Given the description of an element on the screen output the (x, y) to click on. 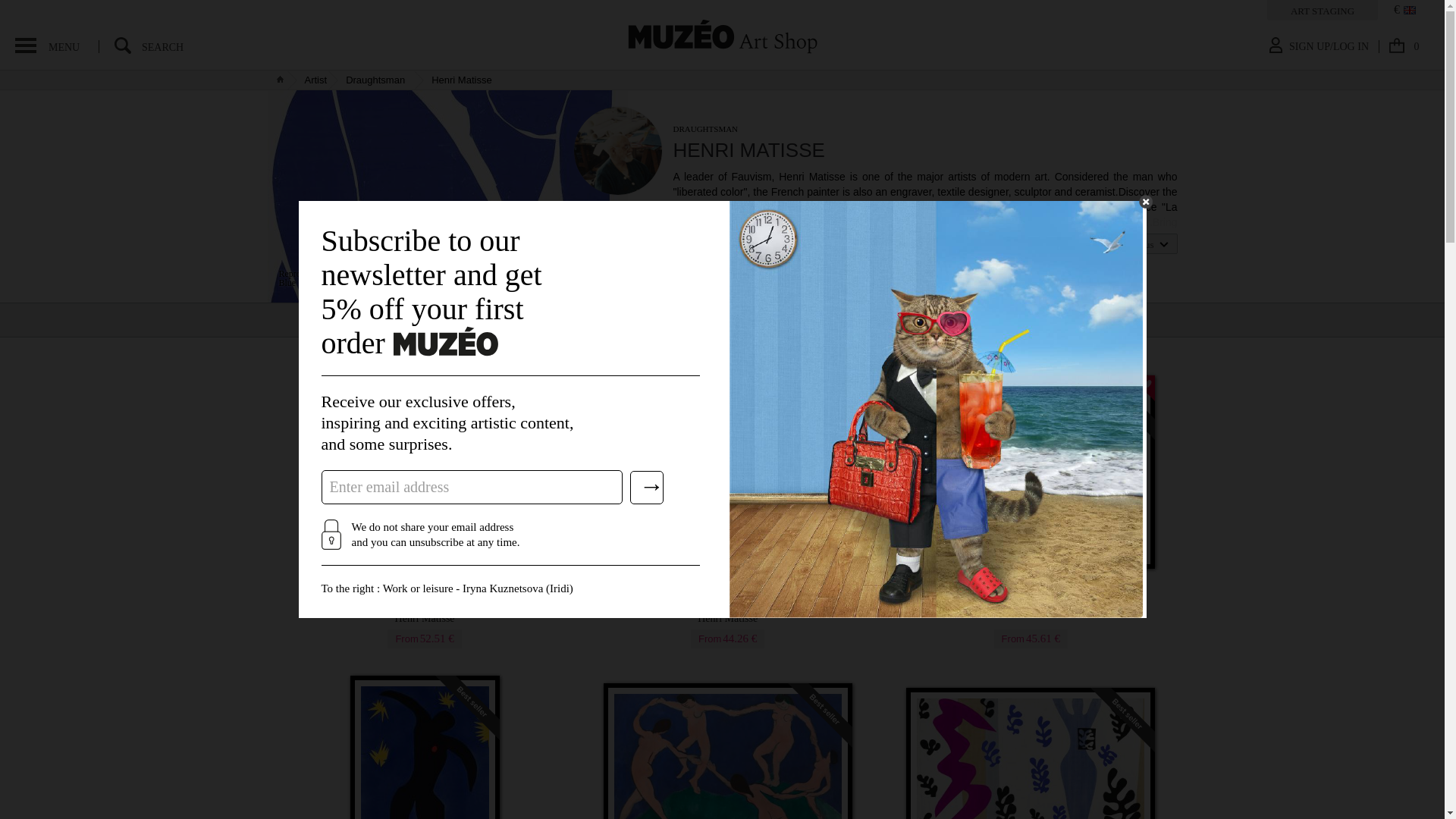
0 (446, 196)
ART STAGING (1404, 50)
Blue Nude III (1321, 10)
Sorrow of the King, 1952 (424, 613)
Twitter (1030, 595)
Draughtsman (708, 242)
Facebook (375, 80)
Odalisque, Blue Harmony (424, 613)
Home (683, 242)
Art Staging (727, 613)
